Given the description of an element on the screen output the (x, y) to click on. 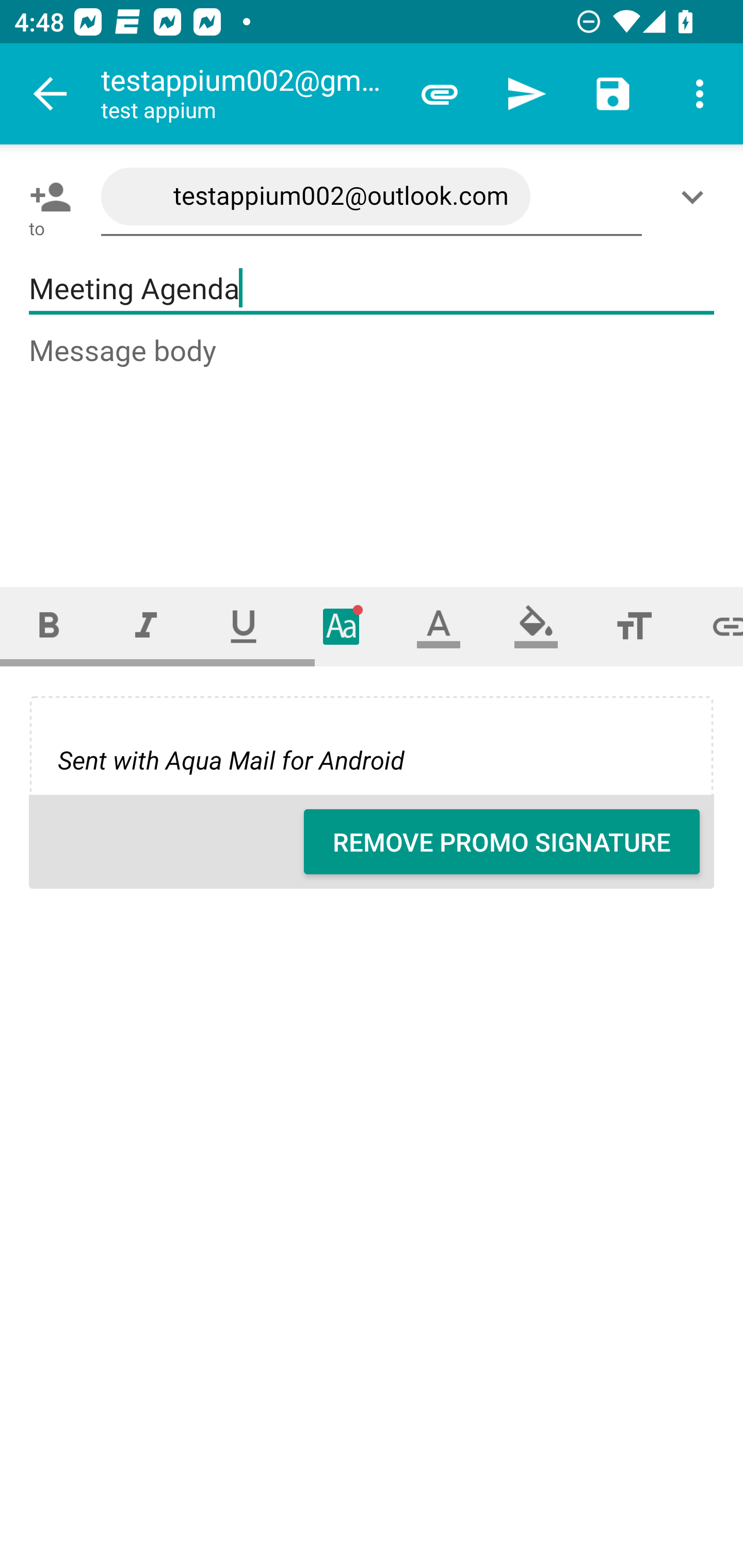
Navigate up (50, 93)
testappium002@gmail.com test appium (248, 93)
Attach (439, 93)
Send (525, 93)
Save (612, 93)
More options (699, 93)
testappium002@outlook.com,  (371, 197)
Pick contact: To (46, 196)
Show/Add CC/BCC (696, 196)
Meeting Agenda (371, 288)
Message body (372, 442)
Bold (48, 626)
Italic (145, 626)
Underline (243, 626)
Typeface (font) (341, 626)
Text color (438, 626)
Fill color (536, 626)
Font size (633, 626)
Set link (712, 626)
REMOVE PROMO SIGNATURE (501, 841)
